Given the description of an element on the screen output the (x, y) to click on. 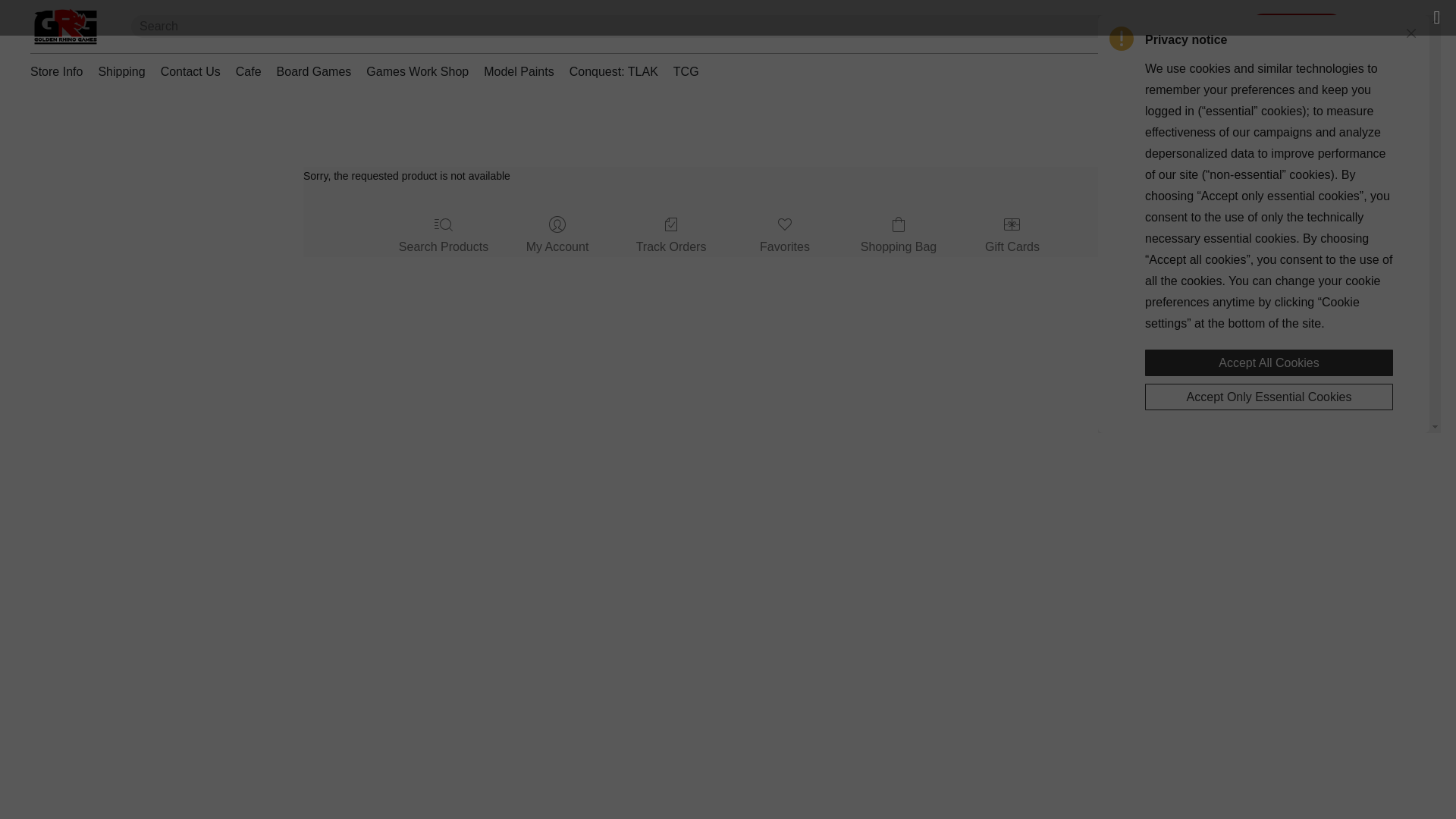
Contact Us (190, 71)
Shipping (121, 71)
My Account (557, 236)
Search Products (443, 236)
Shop Now! (1296, 26)
TCG (681, 71)
Board Games (314, 71)
Store Info (60, 71)
Shopping Bag (898, 236)
Conquest: TLAK (613, 71)
Model Paints (519, 71)
Accept All Cookies (1268, 361)
Track Orders (671, 236)
Games Work Shop (417, 71)
Accept Only Essential Cookies (1268, 397)
